Given the description of an element on the screen output the (x, y) to click on. 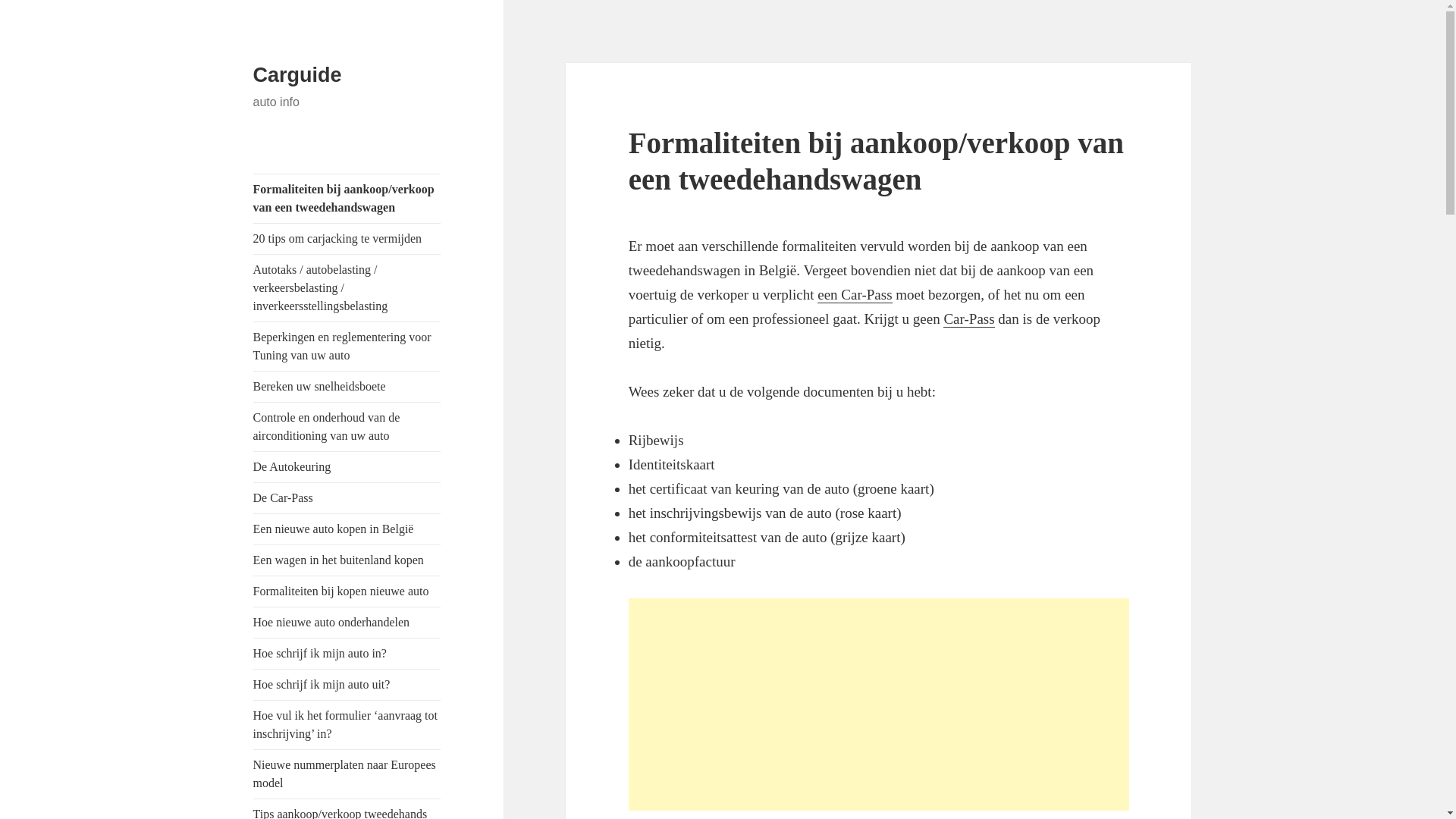
Formaliteiten bij kopen nieuwe auto Element type: text (347, 591)
De Autokeuring Element type: text (347, 466)
Een wagen in het buitenland kopen Element type: text (347, 560)
een Car-Pass Element type: text (854, 294)
Bereken uw snelheidsboete Element type: text (347, 386)
De Car-Pass Element type: text (347, 498)
Nieuwe nummerplaten naar Europees model Element type: text (347, 773)
Carguide Element type: text (297, 74)
Formaliteiten bij aankoop/verkoop van een tweedehandswagen Element type: text (347, 198)
Hoe schrijf ik mijn auto uit? Element type: text (347, 684)
20 tips om carjacking te vermijden Element type: text (347, 238)
Hoe nieuwe auto onderhandelen Element type: text (347, 622)
Controle en onderhoud van de airconditioning van uw auto Element type: text (347, 426)
Car-Pass Element type: text (968, 318)
Beperkingen en reglementering voor Tuning van uw auto Element type: text (347, 346)
Hoe schrijf ik mijn auto in? Element type: text (347, 653)
